Given the description of an element on the screen output the (x, y) to click on. 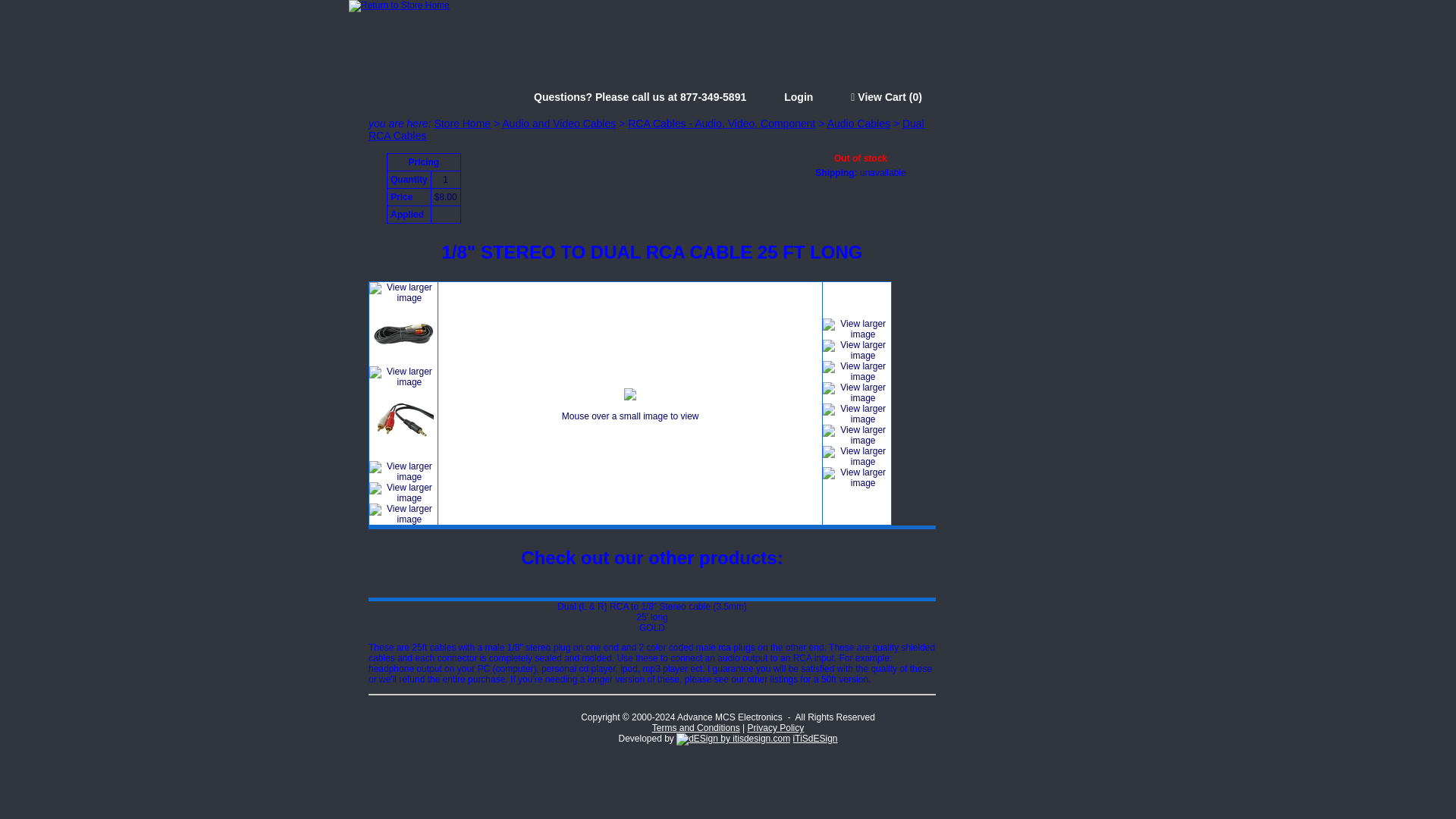
Privacy Policy (776, 727)
Terms and Conditions (695, 727)
Store Home (461, 123)
Audio Cables (858, 123)
Dual RCA Cables (646, 129)
Return to Store Home (399, 6)
RCA Cables - Audio, Video, Component (721, 123)
Login (798, 96)
Audio and Video Cables (558, 123)
Return to Store Home (399, 5)
